Given the description of an element on the screen output the (x, y) to click on. 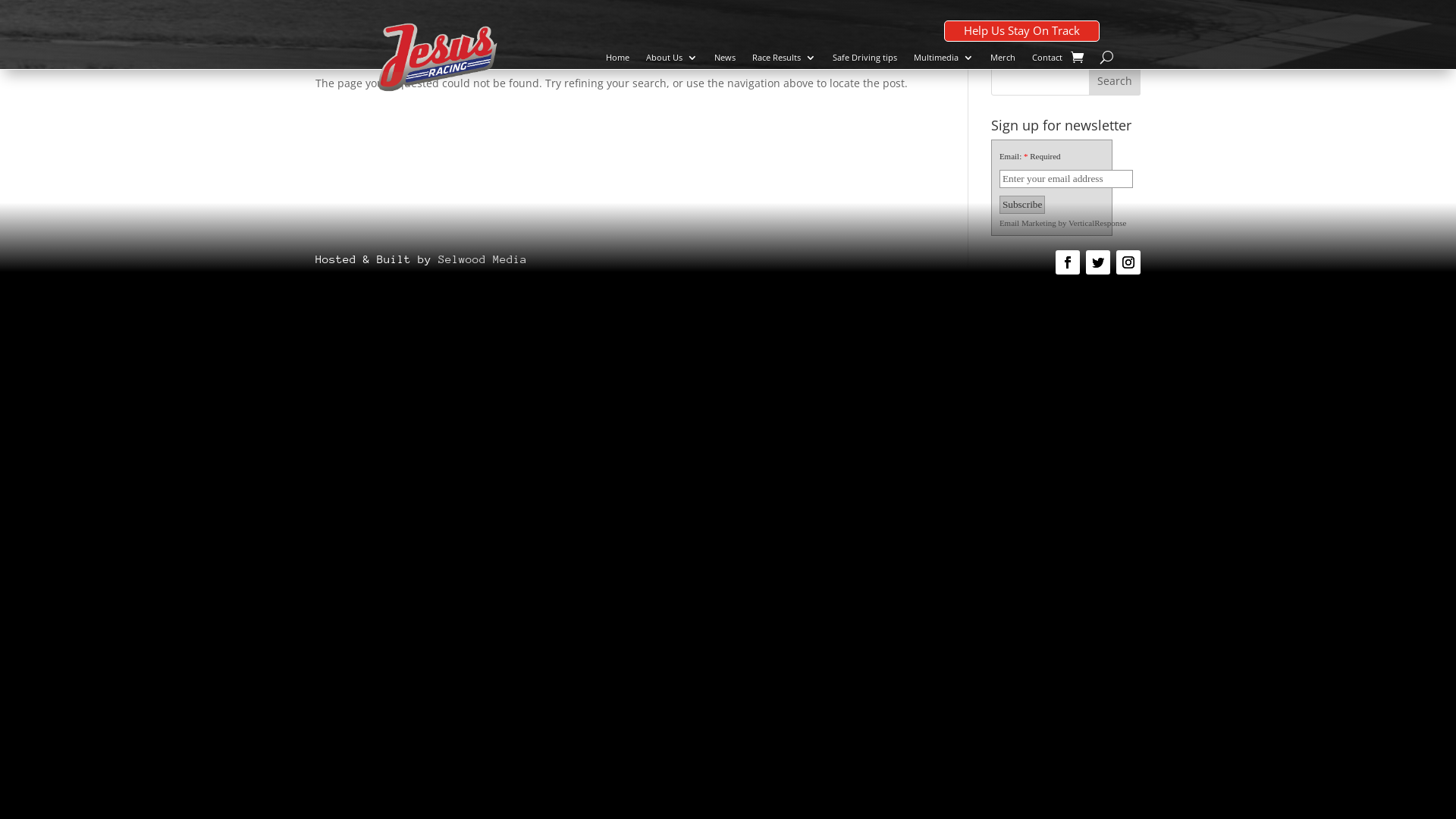
News Element type: text (724, 59)
Home Element type: text (617, 59)
Help Us Stay On Track Element type: text (1021, 30)
Multimedia Element type: text (943, 59)
Follow on Instagram Element type: hover (1128, 262)
Email Marketing Element type: text (1027, 222)
Selwood Media Element type: text (482, 258)
Follow on Twitter Element type: hover (1097, 262)
Merch Element type: text (1002, 59)
Safe Driving tips Element type: text (864, 59)
Contact Element type: text (1047, 59)
About Us Element type: text (671, 59)
Follow on Facebook Element type: hover (1067, 262)
Race Results Element type: text (783, 59)
Search Element type: text (1114, 80)
Subscribe Element type: text (1022, 204)
